Given the description of an element on the screen output the (x, y) to click on. 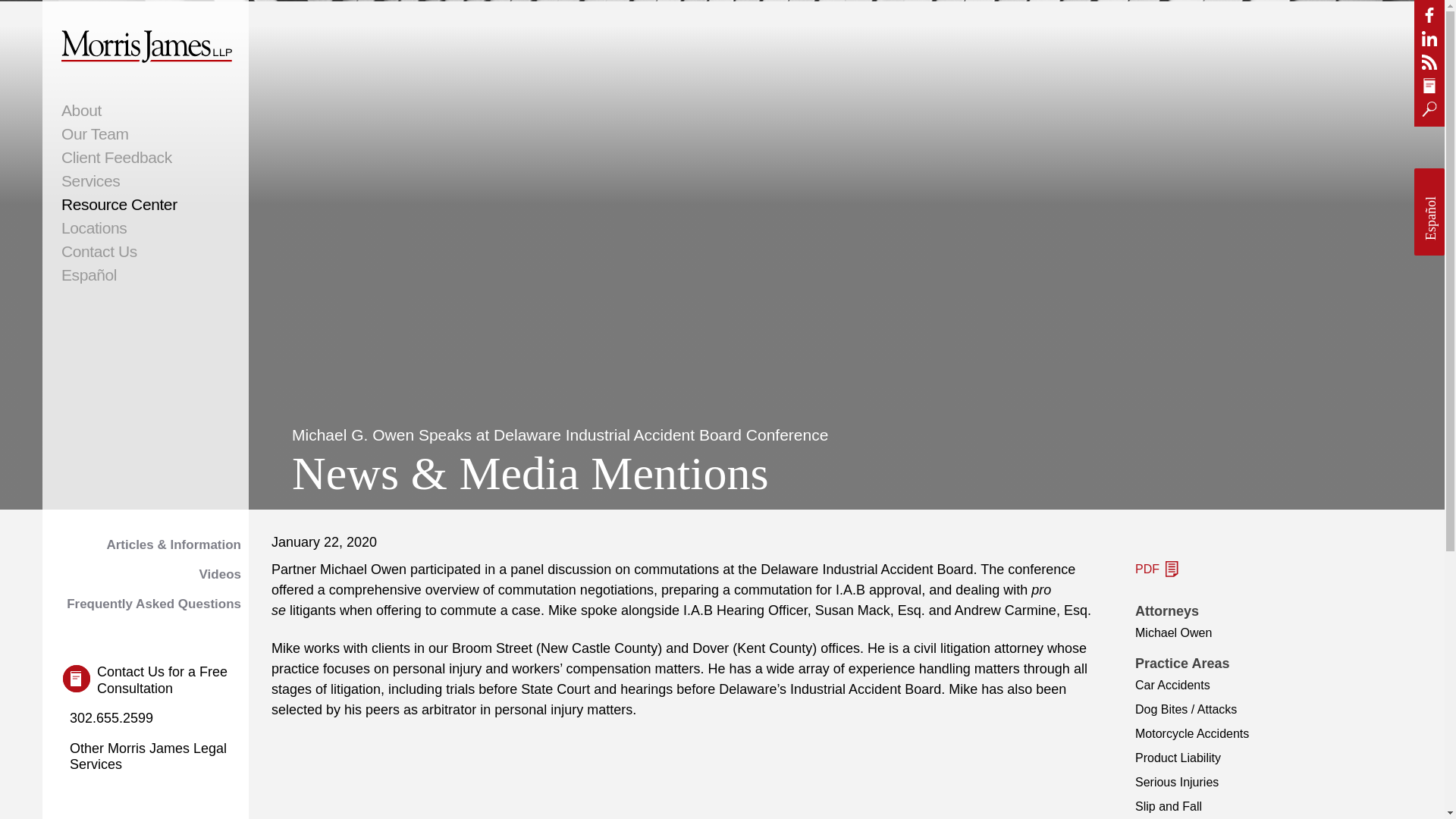
PDF (1156, 568)
Frequently Asked Questions (145, 604)
Services (145, 180)
Resource Center (145, 204)
Car Accidents (1172, 684)
Product Liability (1178, 757)
Contact Us for a Free Consultation (155, 680)
Serious Injuries (1176, 781)
302.655.2599 (107, 718)
Slip and Fall (1168, 806)
